Given the description of an element on the screen output the (x, y) to click on. 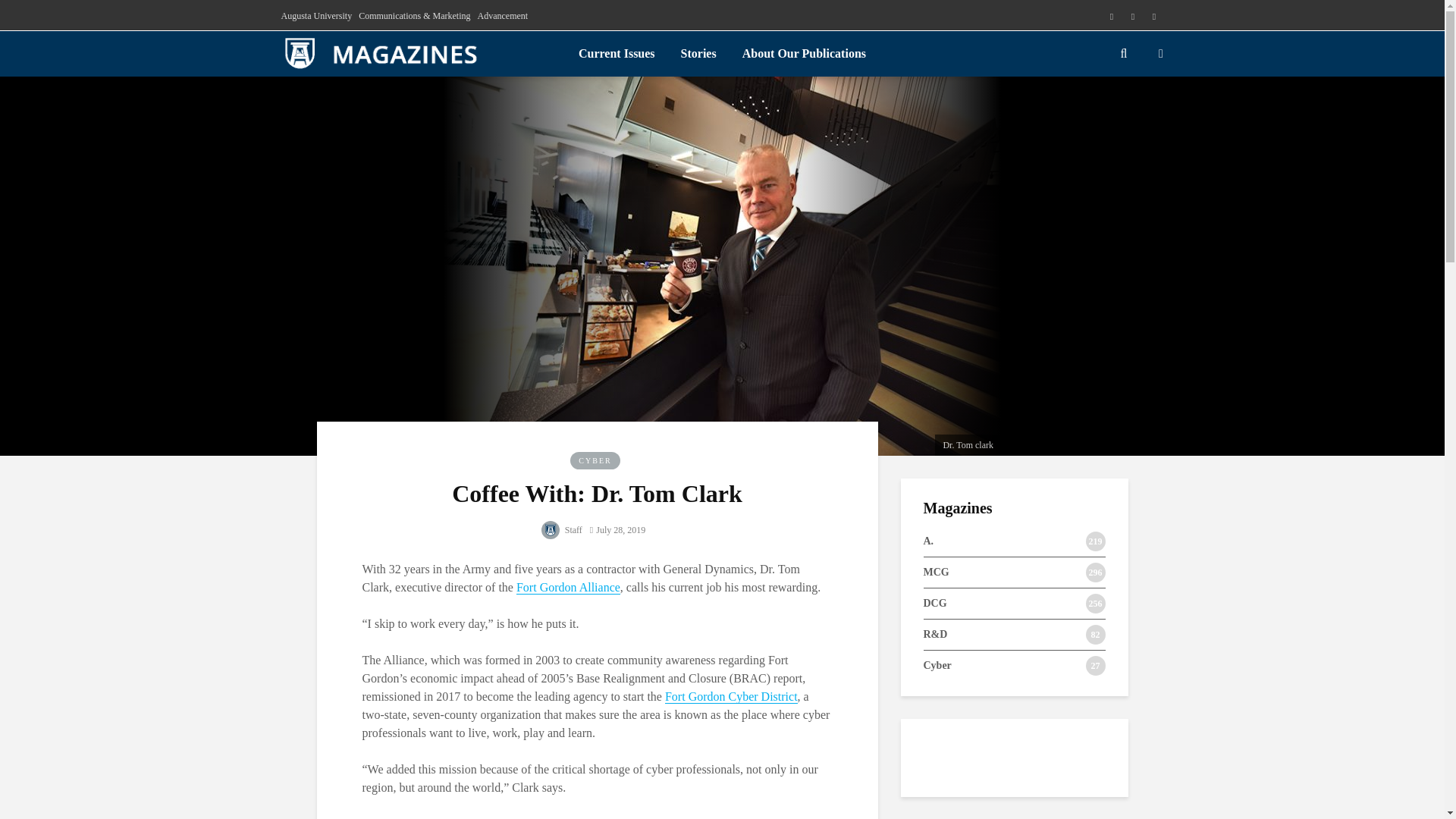
Advancement (502, 15)
Augusta University (316, 15)
Current Issues (616, 53)
About Our Publications (803, 53)
Stories (698, 53)
